Given the description of an element on the screen output the (x, y) to click on. 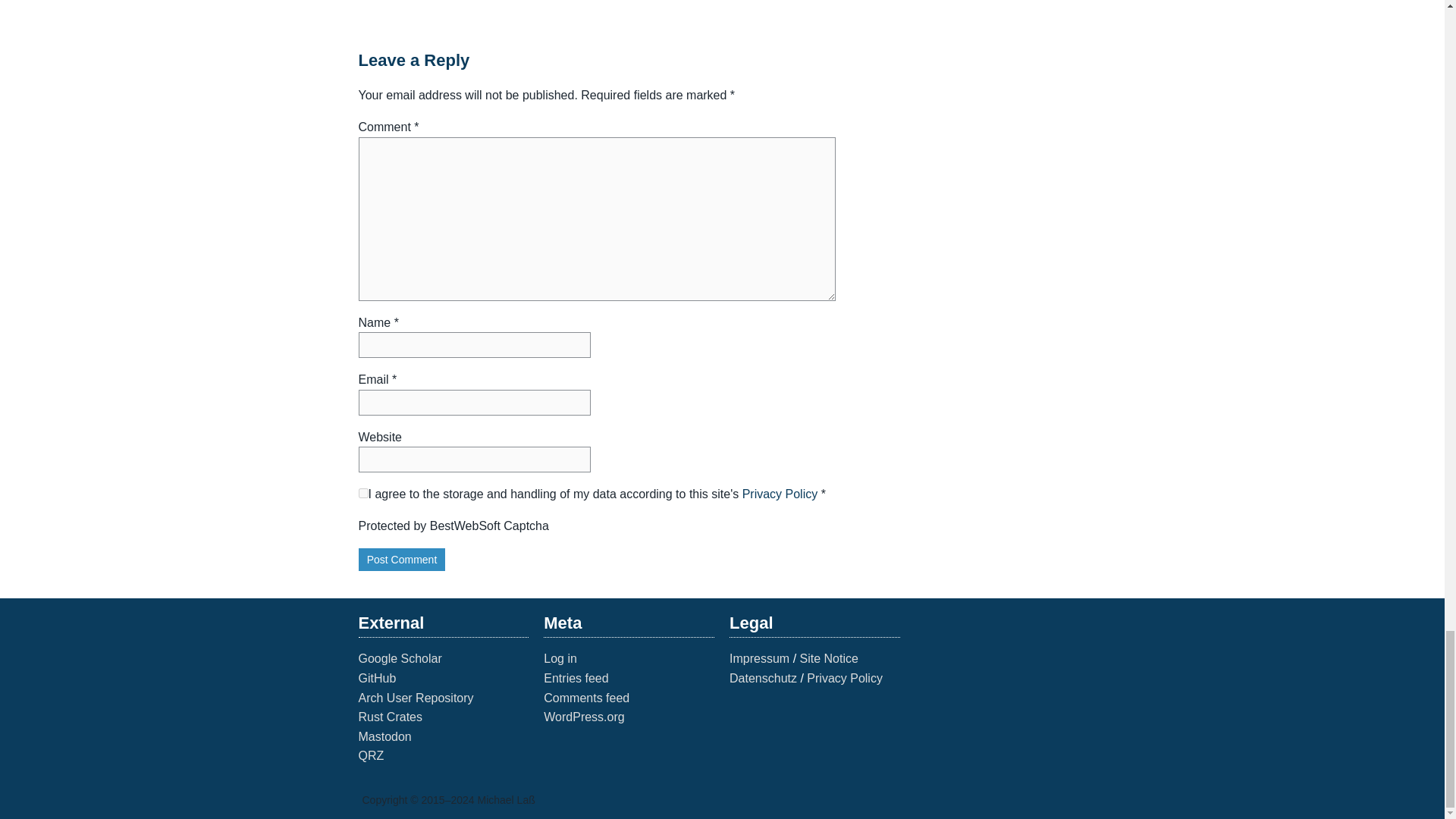
Privacy Policy (780, 493)
on (363, 492)
Post Comment (401, 559)
Post Comment (401, 559)
